Given the description of an element on the screen output the (x, y) to click on. 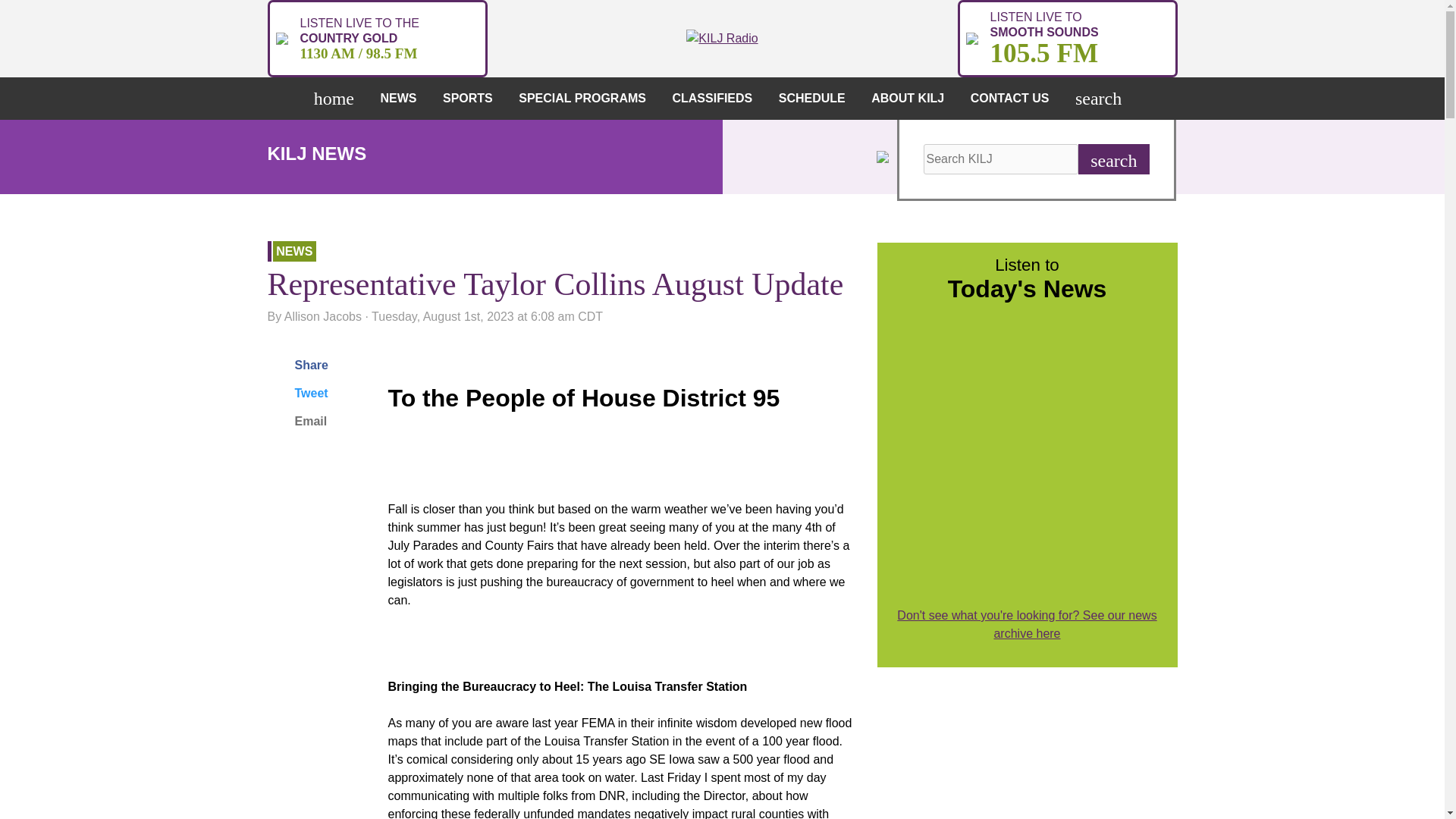
SPECIAL PROGRAMS (587, 97)
home (1066, 38)
NEWS (337, 97)
SPORTS (402, 97)
